Given the description of an element on the screen output the (x, y) to click on. 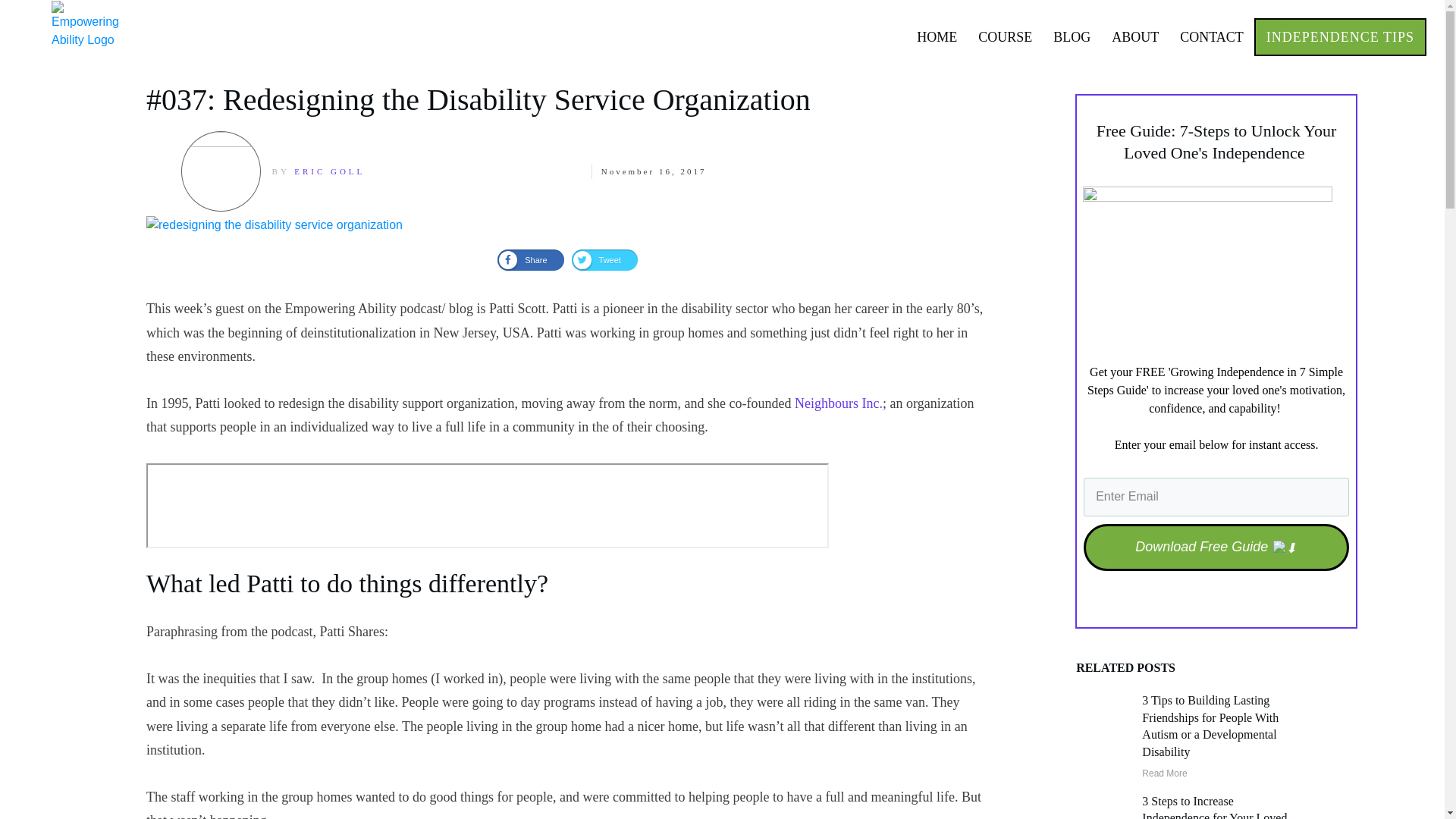
Read More (1163, 773)
Tweet (604, 260)
COURSE (1005, 36)
HOME (936, 36)
INDEPENDENCE TIPS (1339, 36)
ERIC GOLL (329, 171)
Eric Goll Nature (219, 170)
Neighbours Inc. (838, 403)
Download Free Guide (1216, 547)
free guide growing independence (1207, 267)
